Given the description of an element on the screen output the (x, y) to click on. 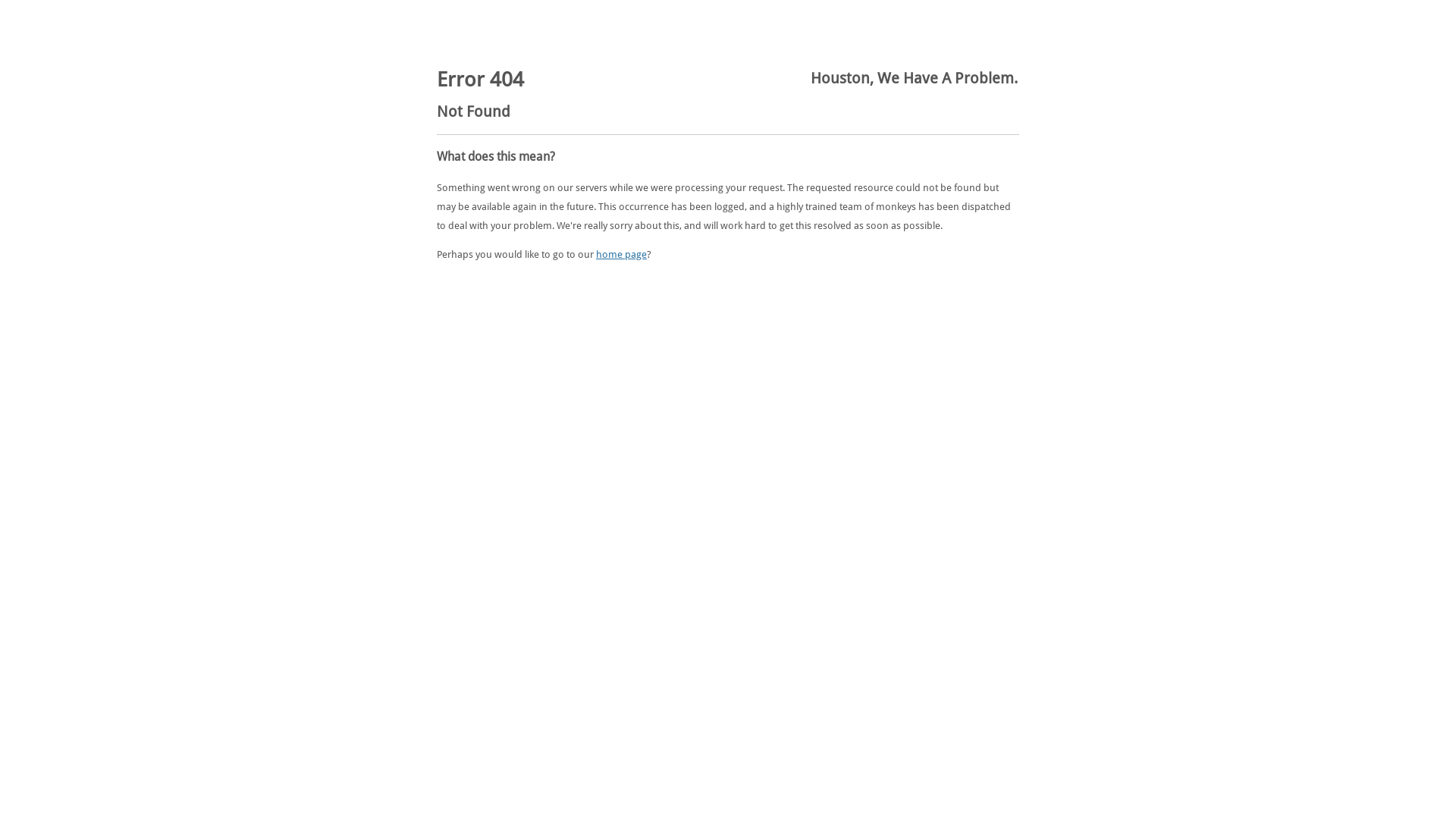
home page Element type: text (621, 254)
